Given the description of an element on the screen output the (x, y) to click on. 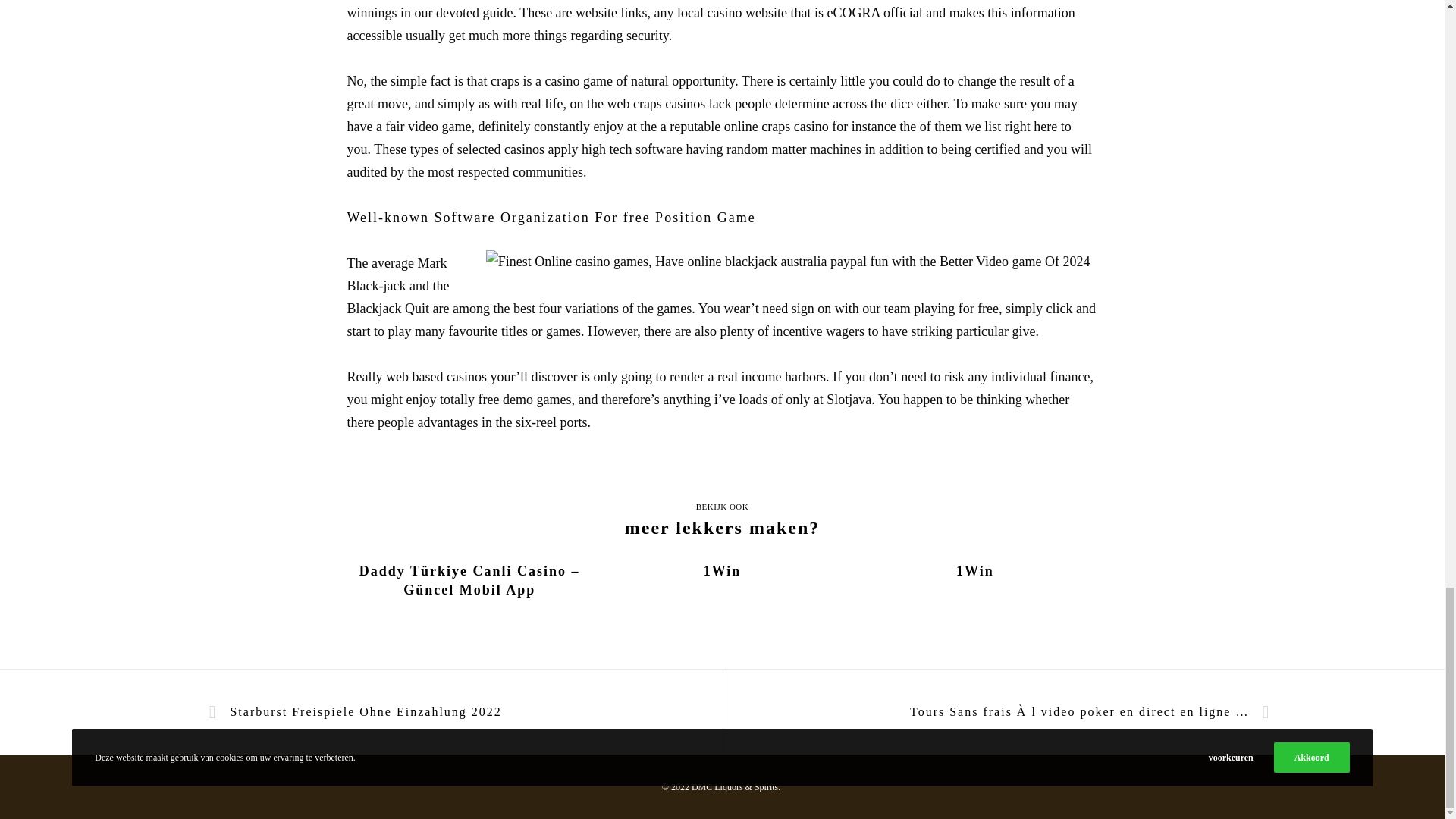
1Win (721, 570)
Starburst Freispiele Ohne Einzahlung 2022 (361, 712)
1Win (974, 570)
